Given the description of an element on the screen output the (x, y) to click on. 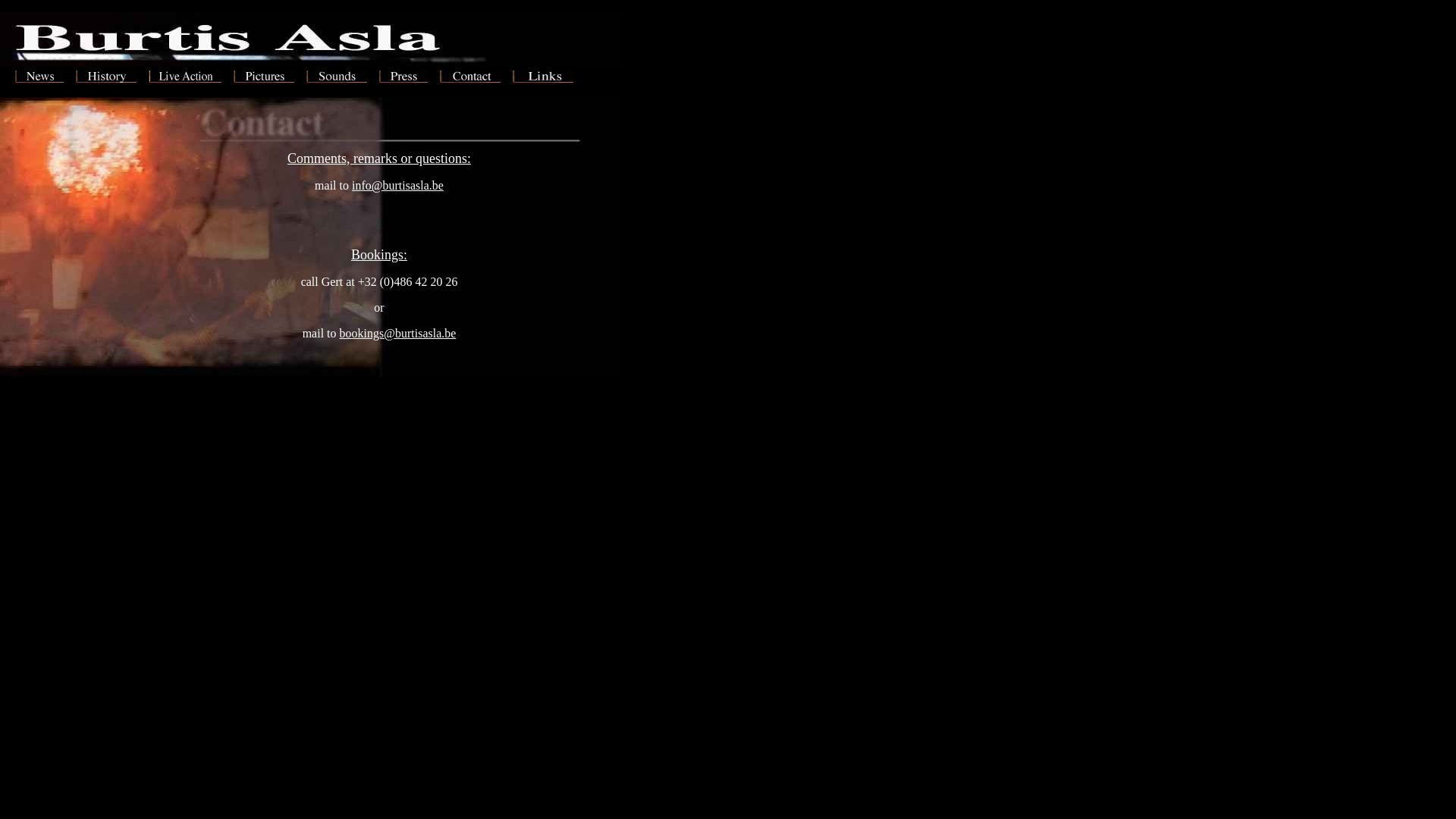
bookings@burtisasla.be Element type: text (397, 332)
info@burtisasla.be Element type: text (397, 184)
